Given the description of an element on the screen output the (x, y) to click on. 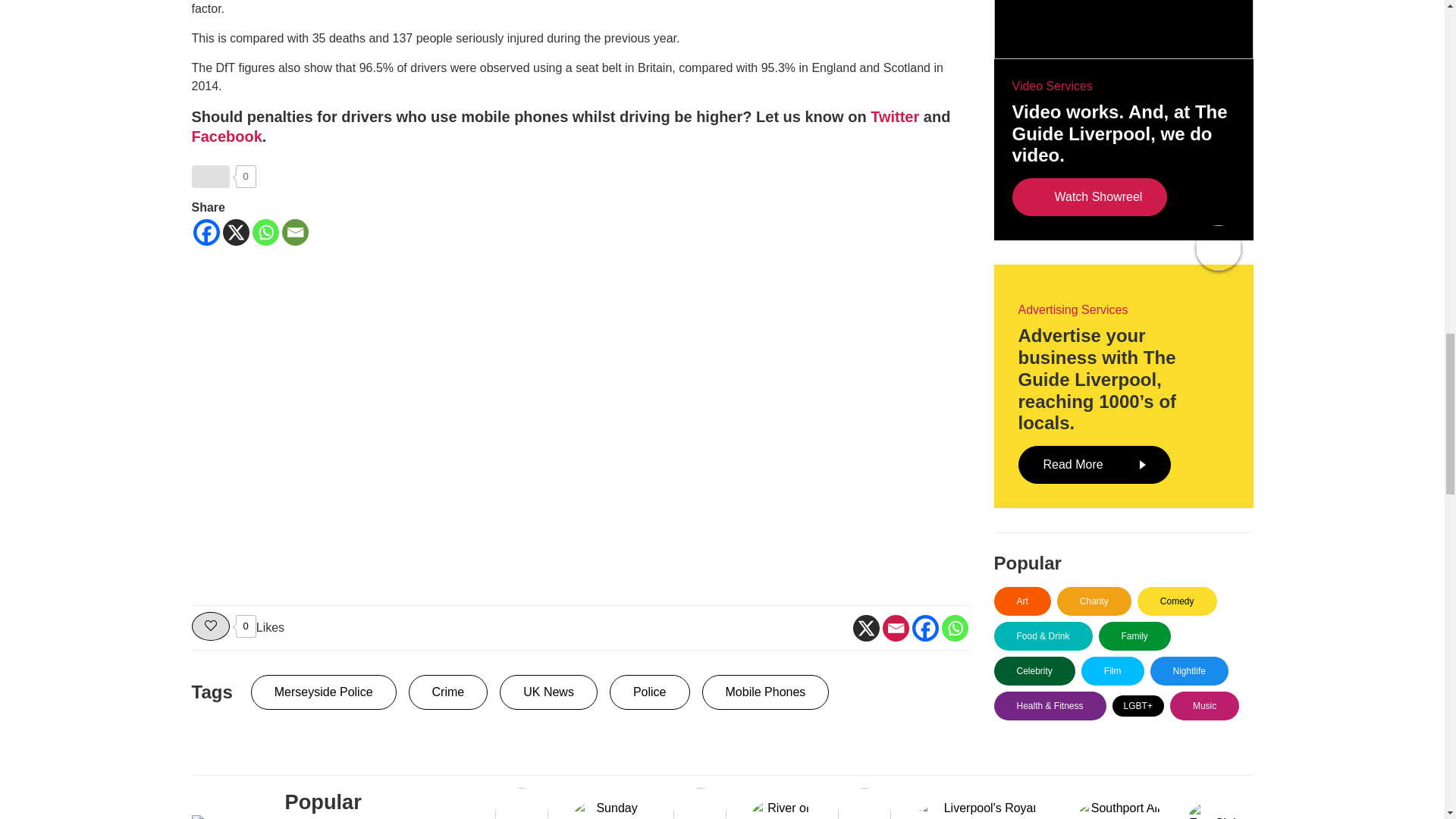
Facebook (205, 232)
Email (895, 628)
X (865, 628)
Whatsapp (264, 232)
Facebook (924, 628)
X (235, 232)
Email (295, 232)
Whatsapp (955, 628)
